Given the description of an element on the screen output the (x, y) to click on. 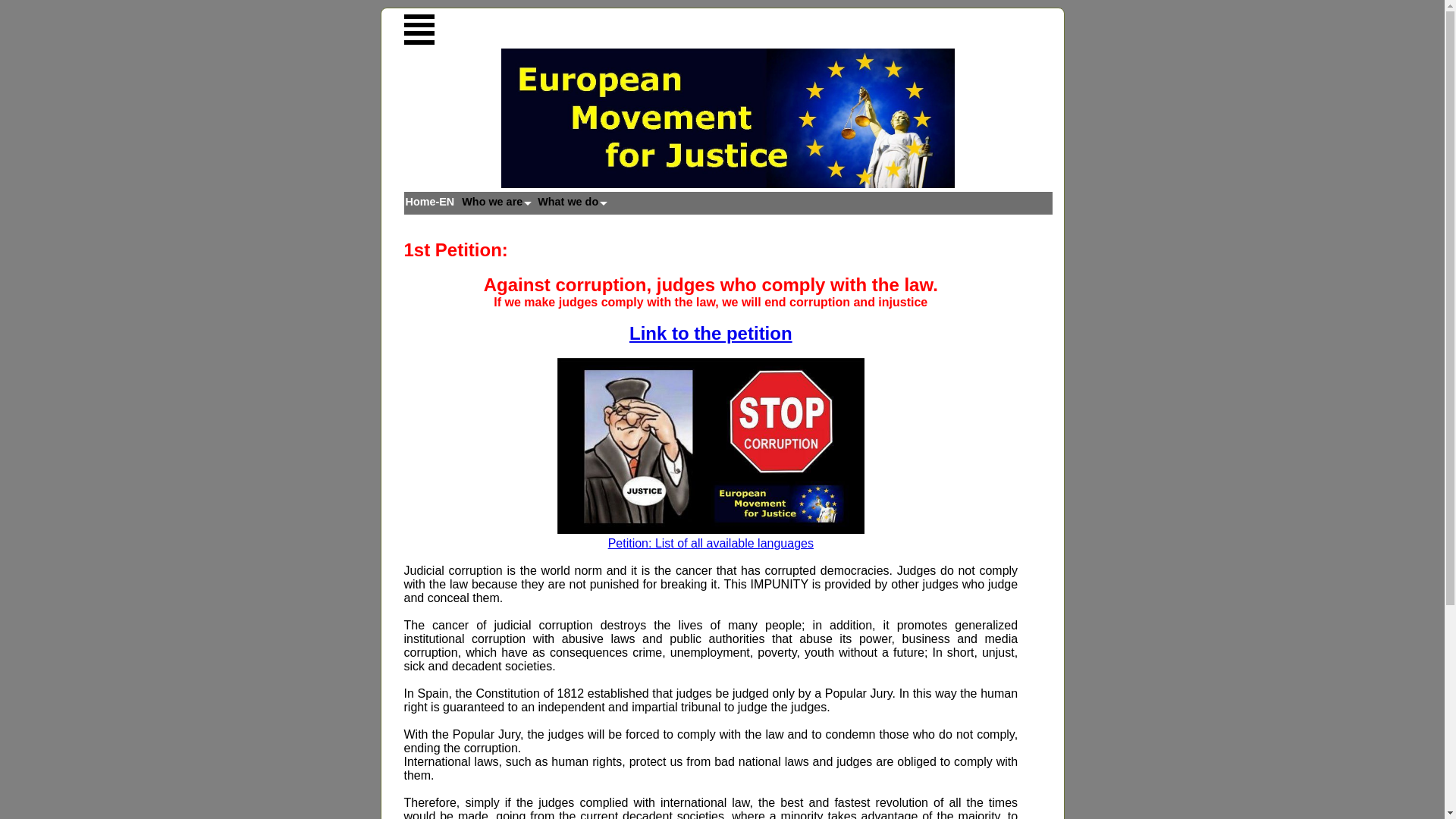
What we do (574, 201)
Who we are (499, 201)
Petition: List of all available languages (710, 543)
Home-EN (432, 201)
Link to the petition (710, 332)
